Given the description of an element on the screen output the (x, y) to click on. 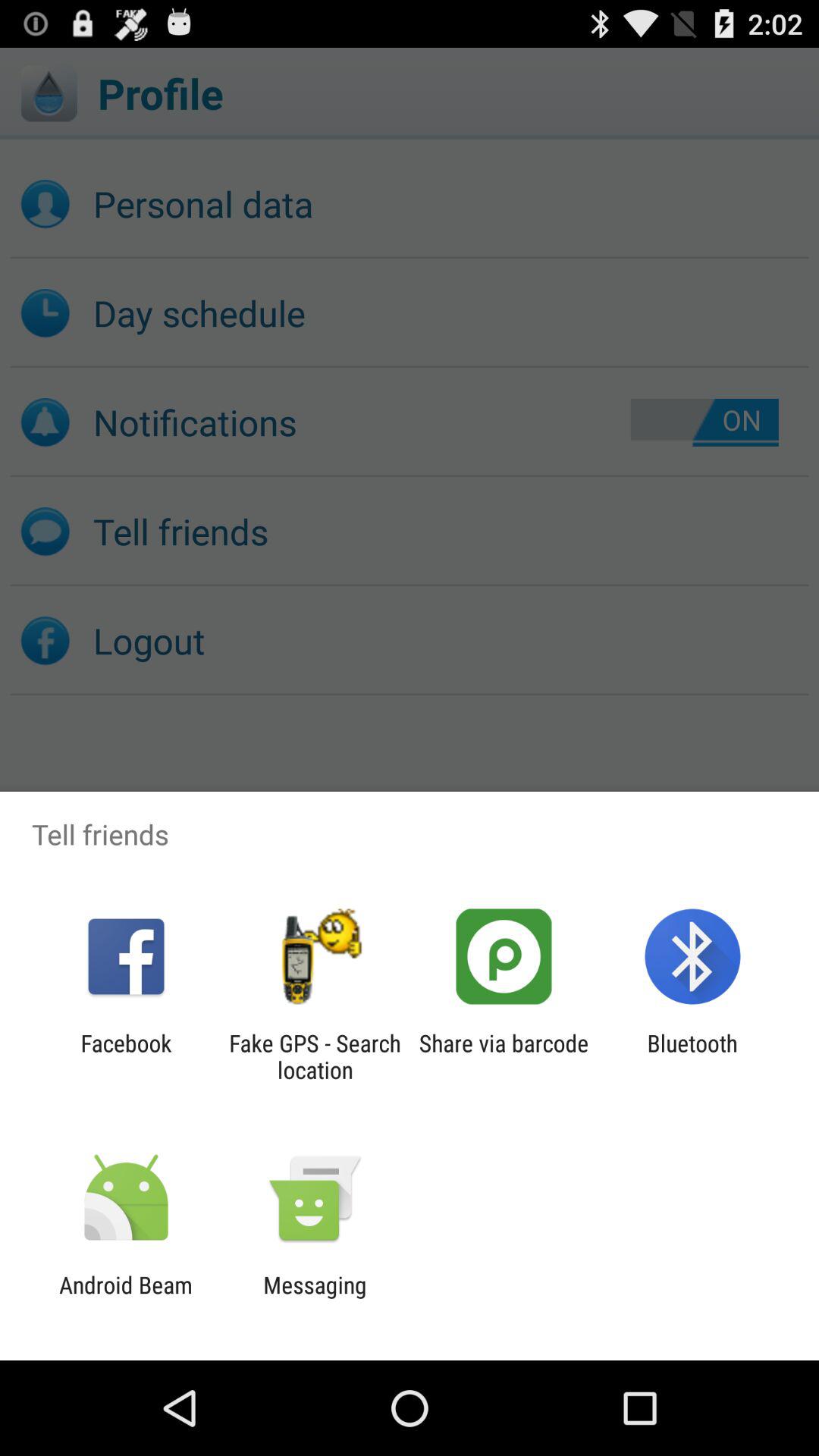
scroll to the facebook icon (125, 1056)
